Given the description of an element on the screen output the (x, y) to click on. 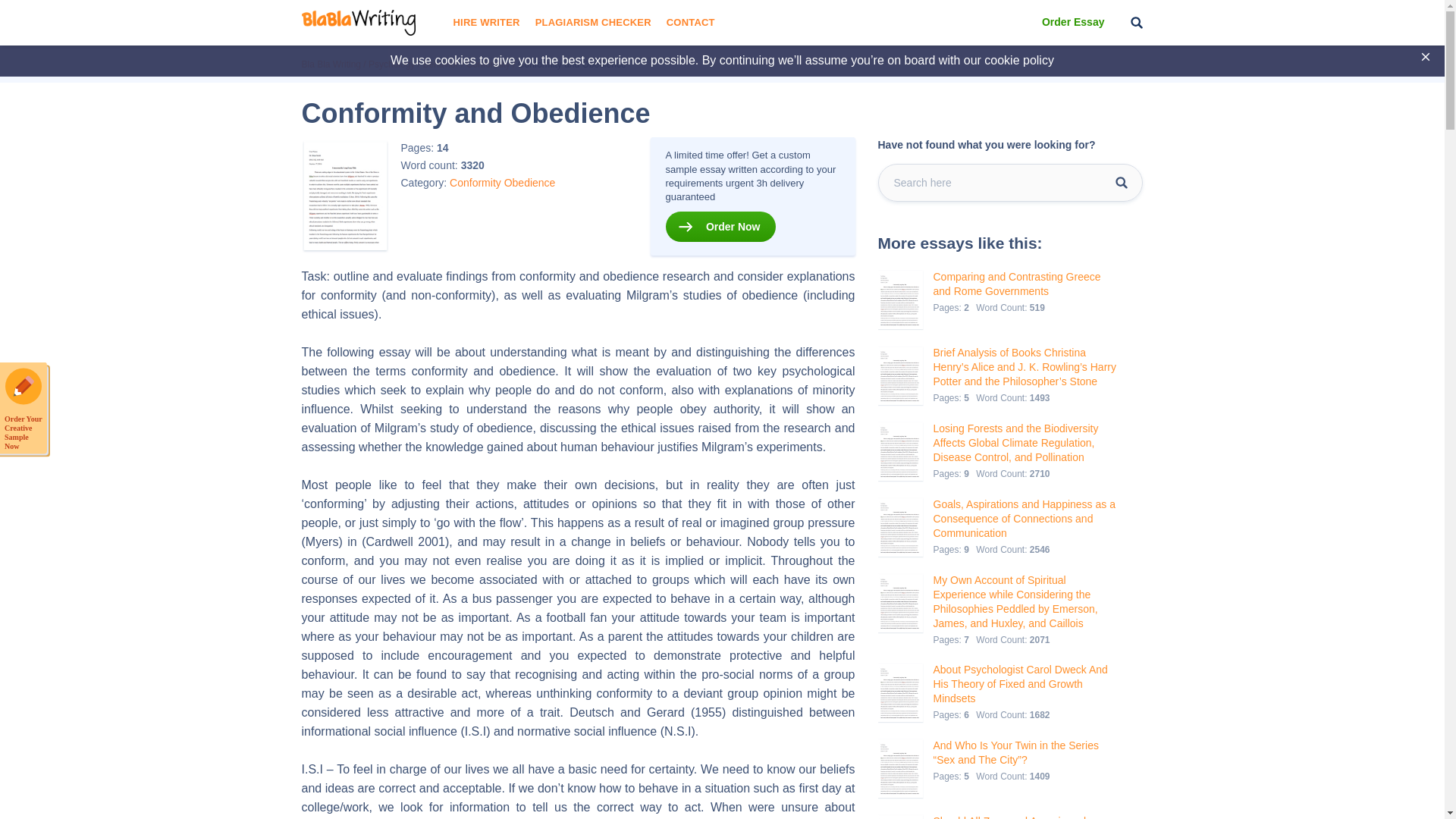
Conformity (474, 182)
Order Essay (1073, 22)
Conformity. (488, 63)
Bla Bla Writing. (331, 63)
Conformity (488, 63)
Comparing and Contrasting Greece and Rome Governments (1025, 284)
